Given the description of an element on the screen output the (x, y) to click on. 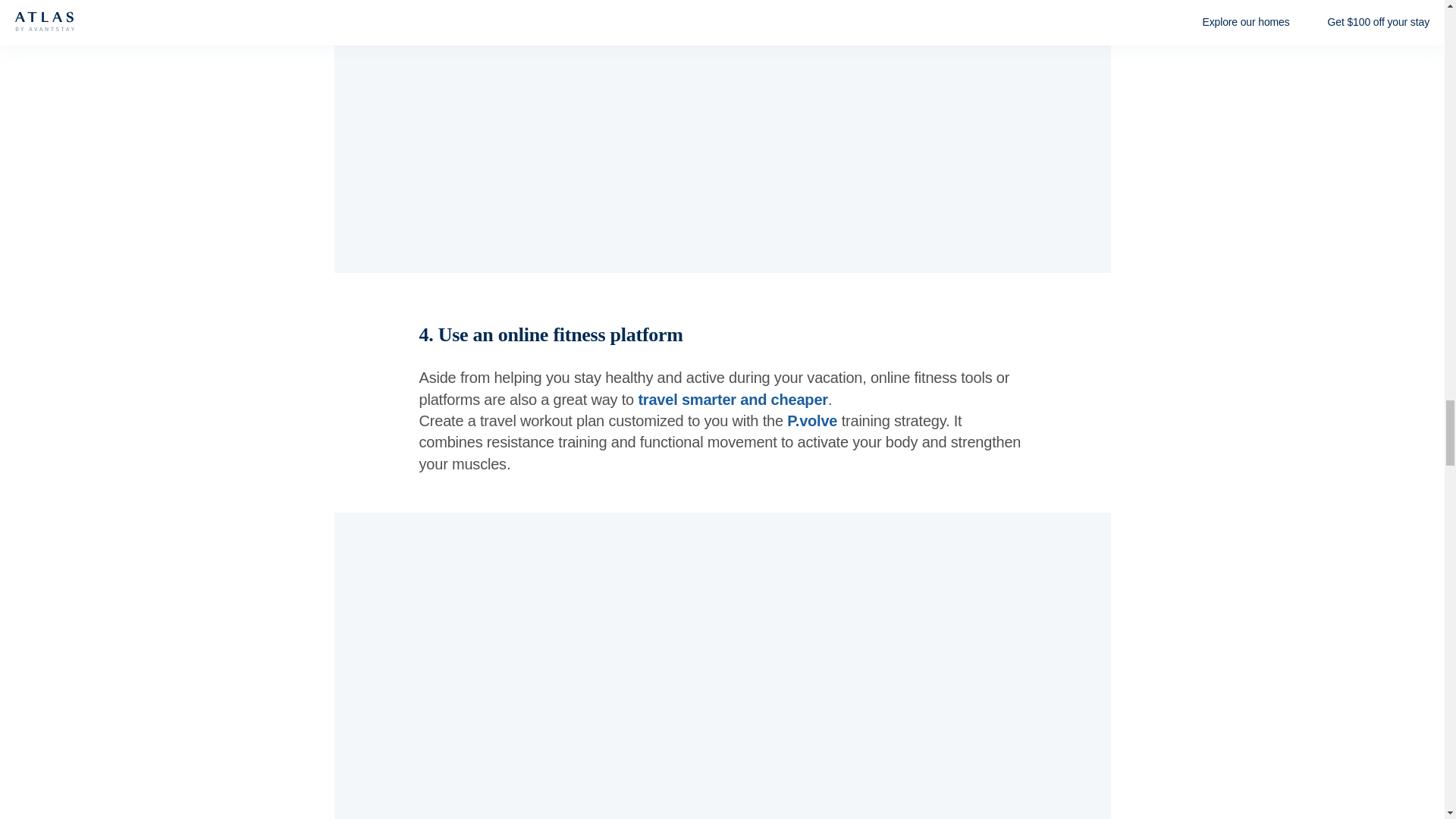
P.volve (812, 420)
travel smarter and cheaper (732, 399)
